Given the description of an element on the screen output the (x, y) to click on. 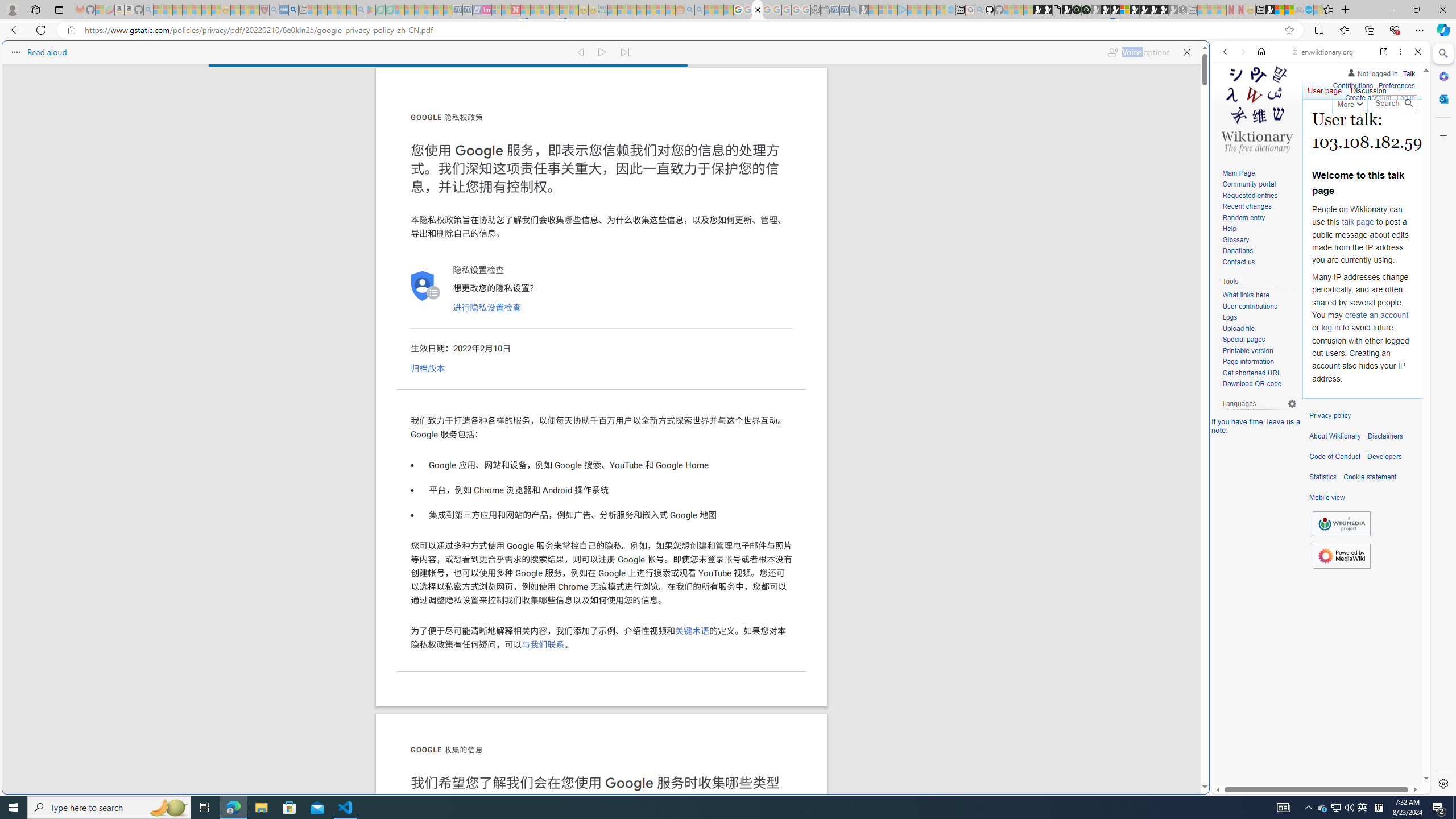
User contributions (1259, 306)
Create account (1367, 96)
Wallet - Sleeping (824, 9)
Web scope (1230, 102)
